Given the description of an element on the screen output the (x, y) to click on. 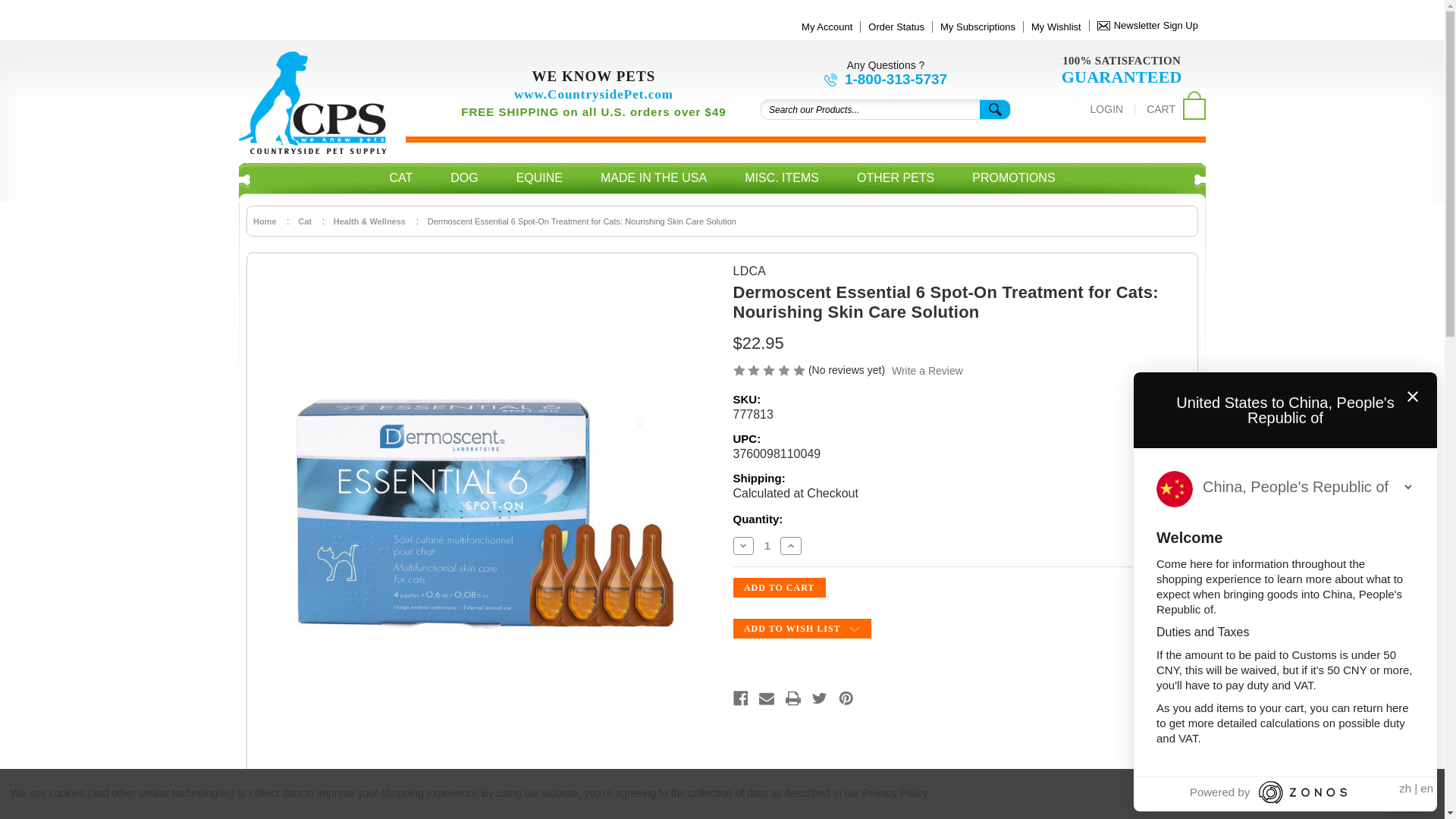
Open Zonos Hello (1411, 792)
1 (767, 545)
My Account (826, 26)
www.CountrysidePet.com (592, 94)
Order Status (895, 26)
1-800-313-5737 (885, 79)
CAT (400, 180)
Select your country (1306, 486)
LOGIN (1107, 109)
Countryside Pet Supply (311, 102)
Newsletter Sign Up (1147, 25)
CART (1176, 108)
Add to Cart (778, 587)
My Wishlist (1055, 26)
